Given the description of an element on the screen output the (x, y) to click on. 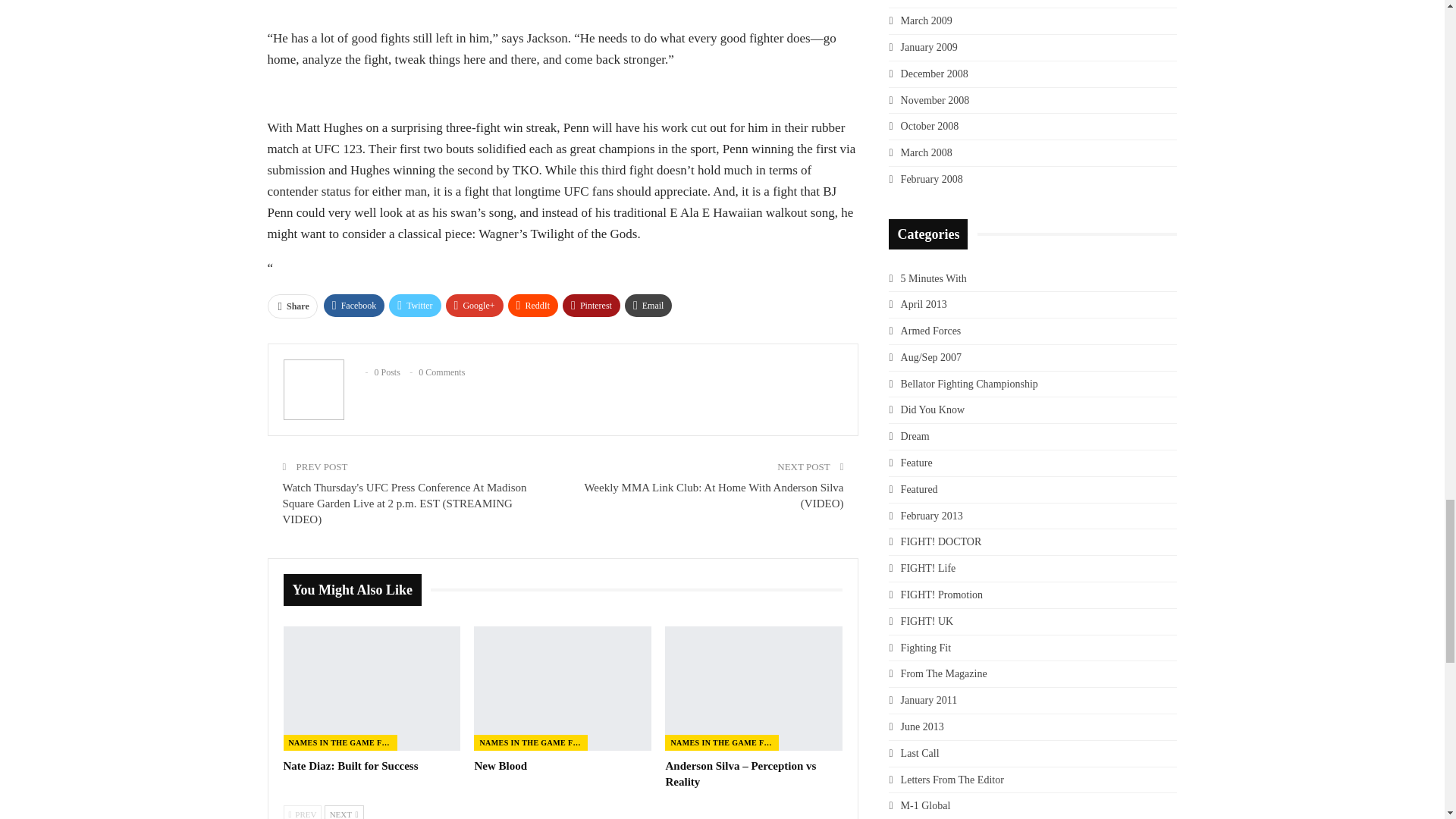
ReddIt (533, 305)
Nate Diaz: Built for Success (351, 766)
New Blood (562, 688)
New Blood (500, 766)
Nate Diaz: Built for Success (372, 688)
NAMES IN THE GAME FROM THE MAGAZINE (340, 742)
You Might Also Like (356, 590)
Pinterest (591, 305)
Facebook (354, 305)
Next (344, 812)
